Given the description of an element on the screen output the (x, y) to click on. 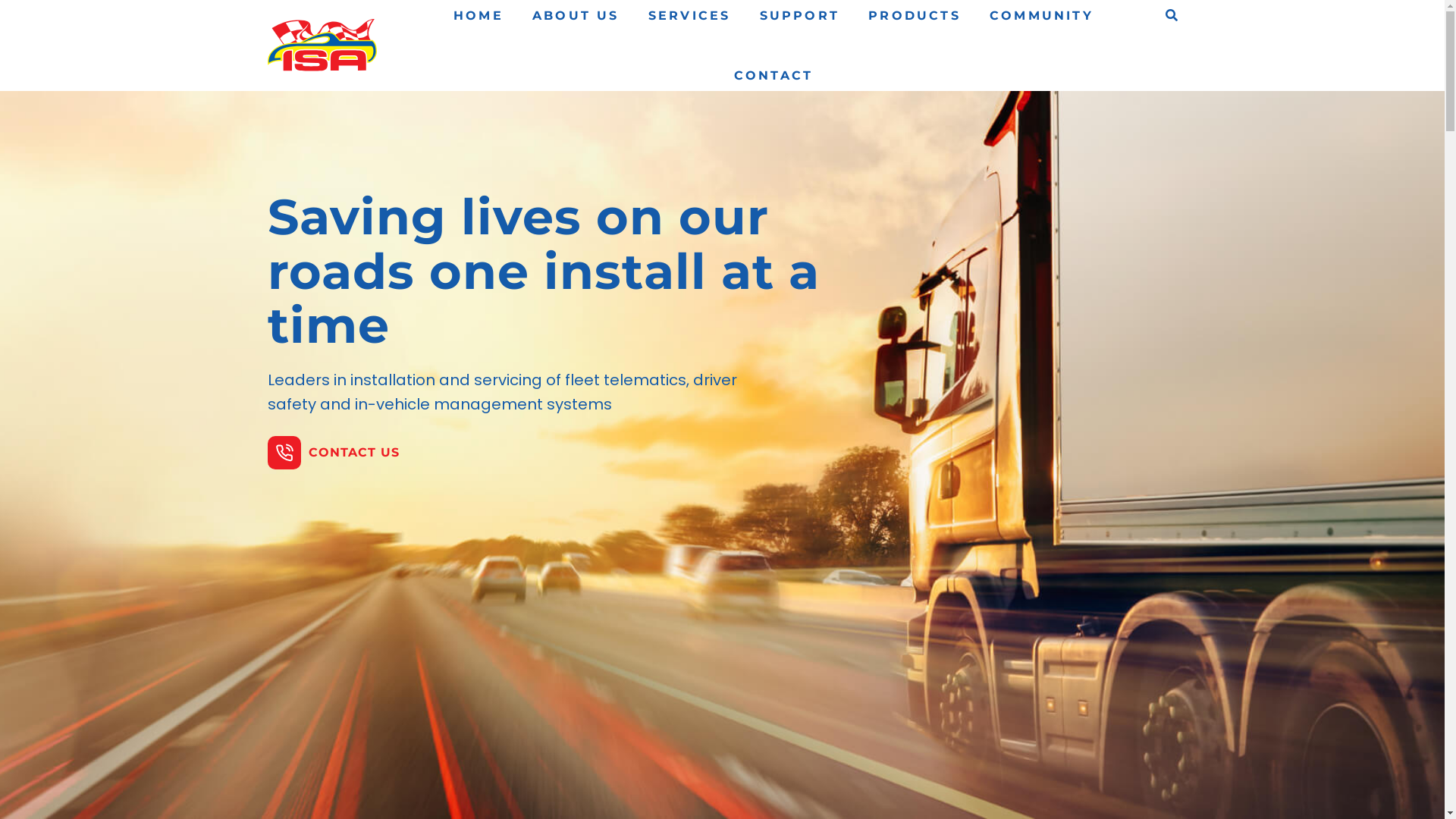
CONTACT Element type: text (773, 75)
CONTACT US Element type: text (332, 452)
